Given the description of an element on the screen output the (x, y) to click on. 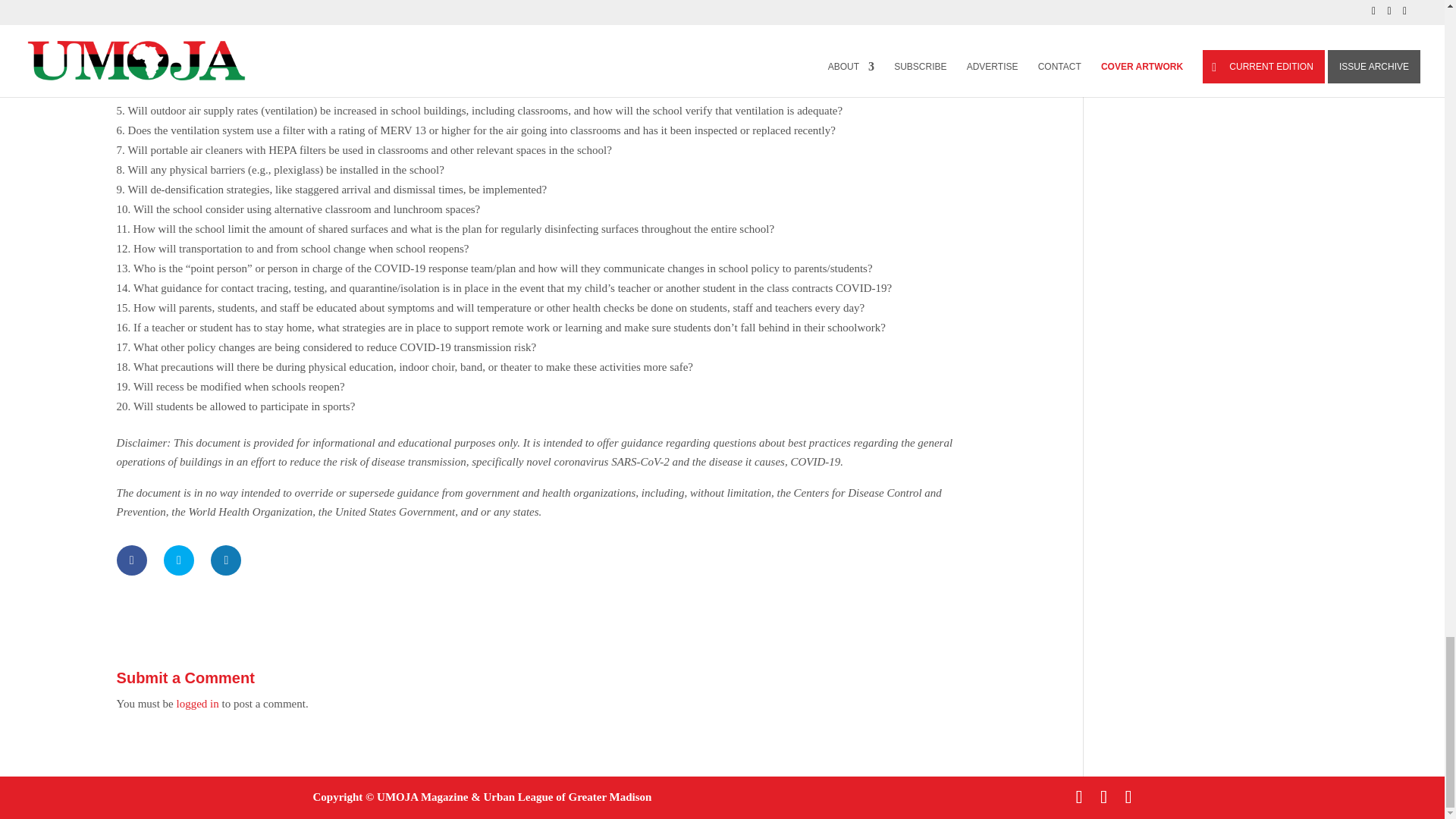
logged in (197, 703)
